Given the description of an element on the screen output the (x, y) to click on. 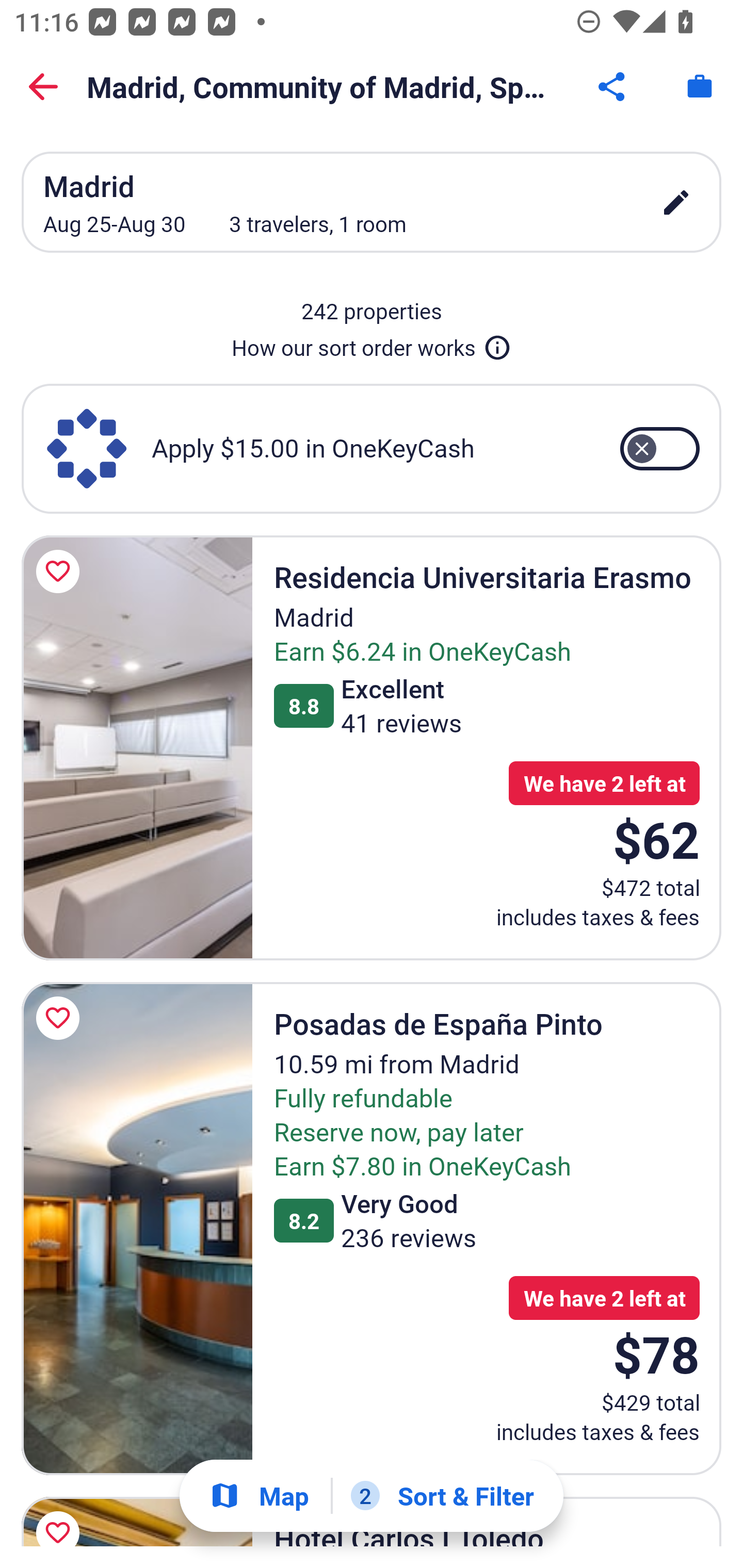
Back (43, 86)
Share Button (612, 86)
Trips. Button (699, 86)
Madrid Aug 25-Aug 30 3 travelers, 1 room edit (371, 202)
How our sort order works (371, 344)
Save Residencia Universitaria Erasmo to a trip (61, 571)
Residencia Universitaria Erasmo (136, 746)
Save Posadas de España Pinto to a trip (61, 1018)
Posadas de España Pinto (136, 1228)
2 Sort & Filter 2 Filters applied. Filters Button (442, 1495)
Show map Map Show map Button (258, 1495)
Save Hotel Carlos I Toledo to a trip (61, 1517)
